Given the description of an element on the screen output the (x, y) to click on. 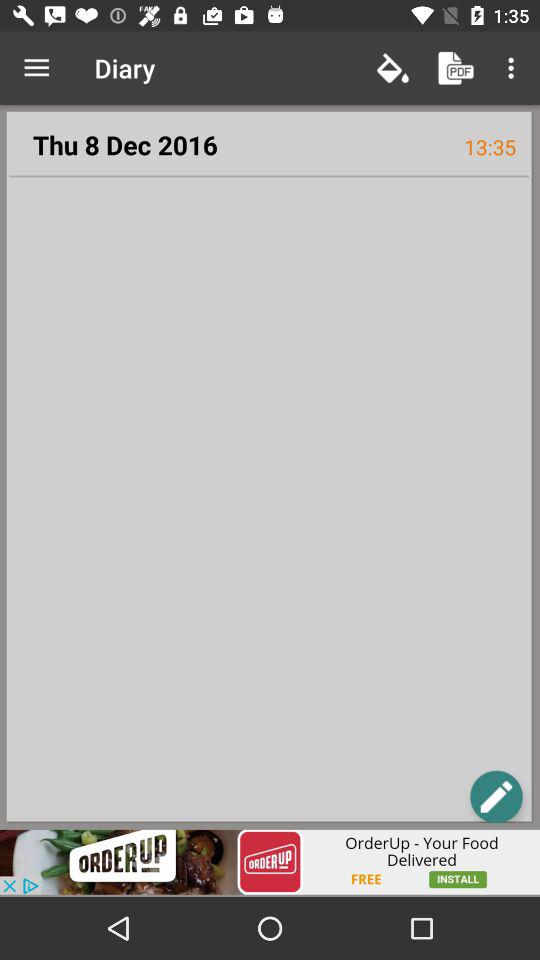
edit text or create text (496, 796)
